Given the description of an element on the screen output the (x, y) to click on. 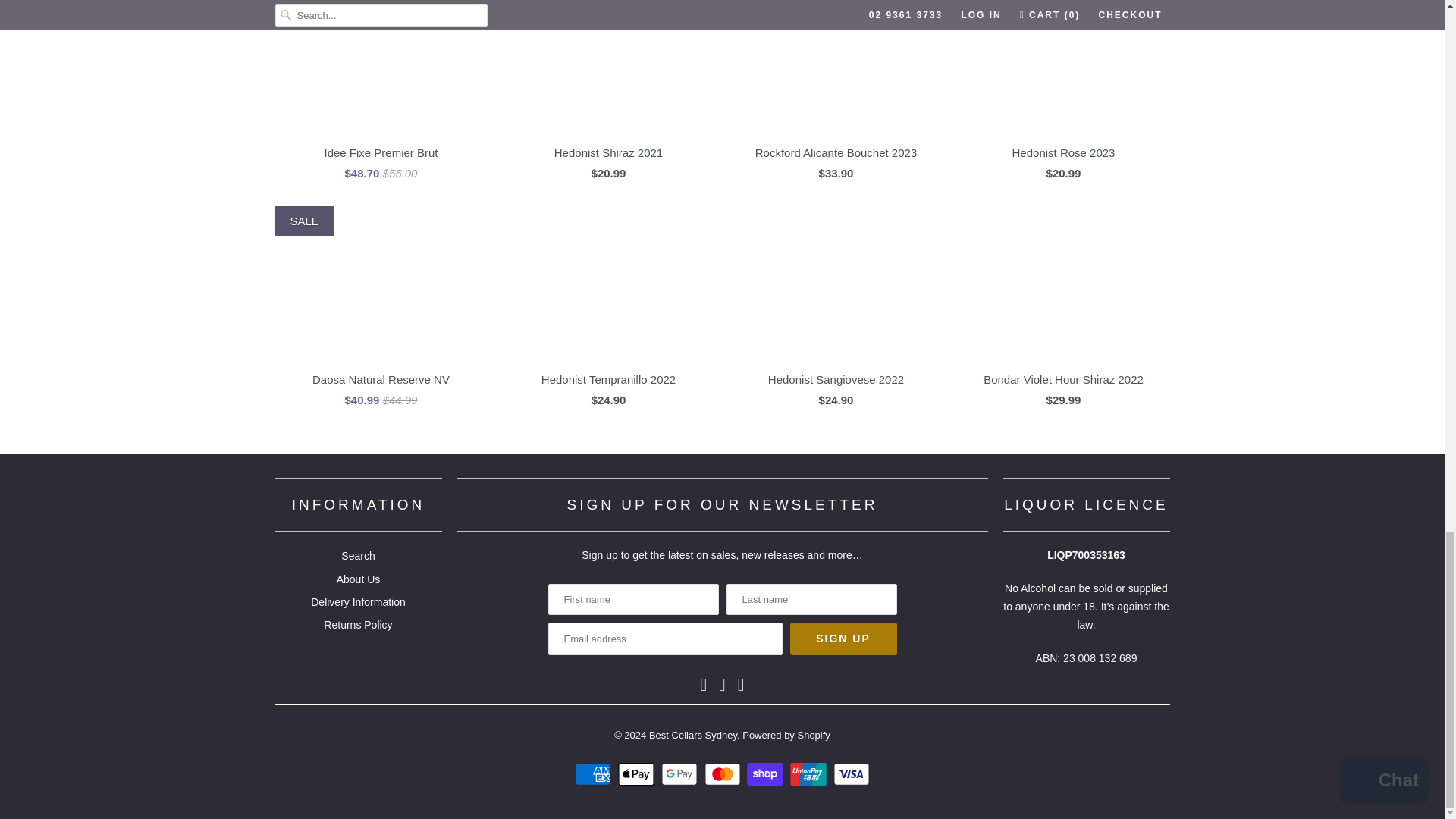
Sign Up (843, 638)
Best Cellars Sydney on Facebook (702, 684)
Best Cellars Sydney on Instagram (721, 684)
Mastercard (723, 773)
American Express (594, 773)
Apple Pay (637, 773)
Google Pay (681, 773)
Shop Pay (766, 773)
Union Pay (809, 773)
Visa (850, 773)
Email Best Cellars Sydney (740, 684)
